Given the description of an element on the screen output the (x, y) to click on. 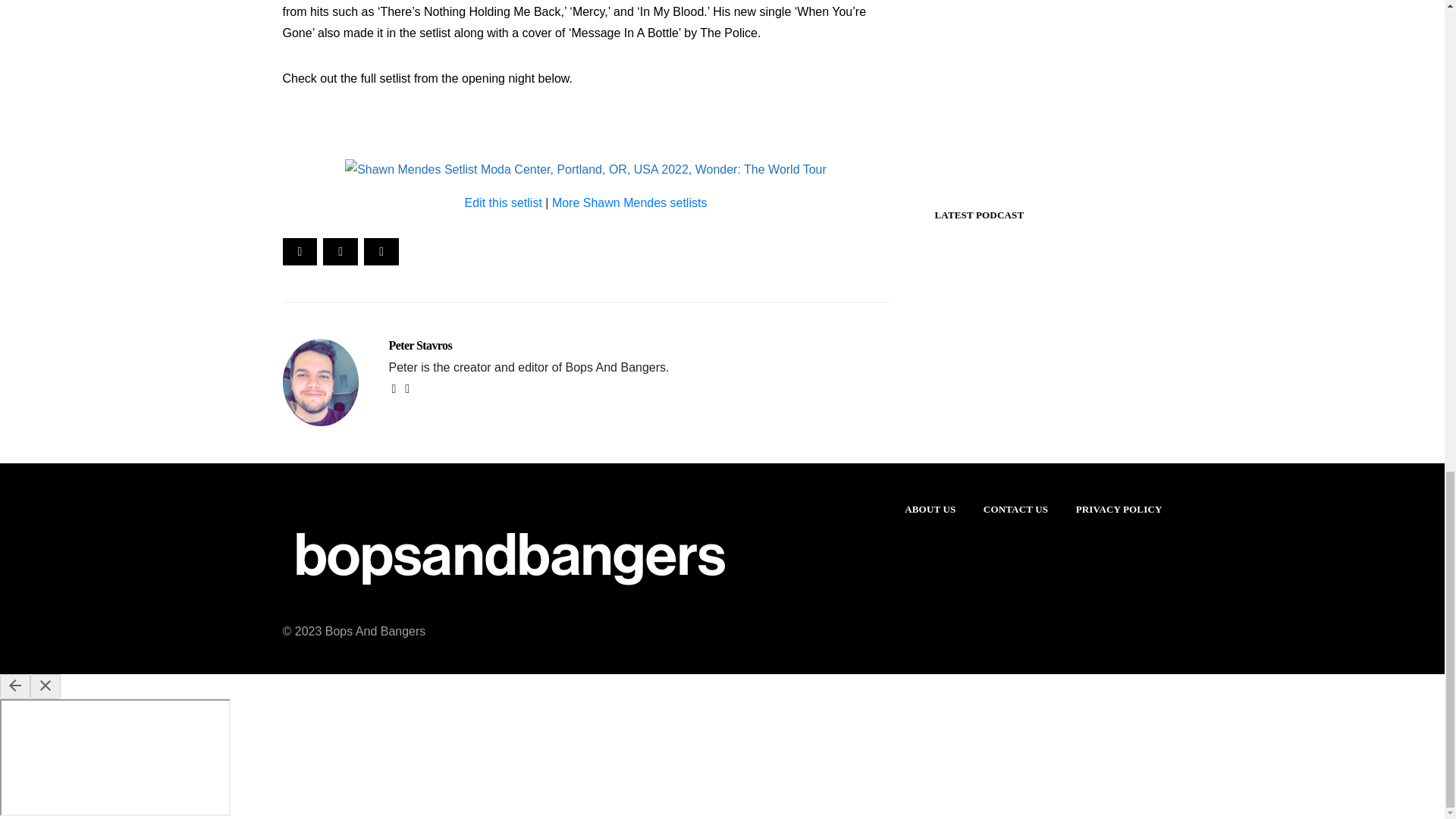
ABOUT US (929, 509)
Peter Stavros (419, 345)
PRIVACY POLICY (1118, 509)
CONTACT US (1016, 509)
Edit this setlist (502, 202)
More Shawn Mendes setlists (629, 202)
